Given the description of an element on the screen output the (x, y) to click on. 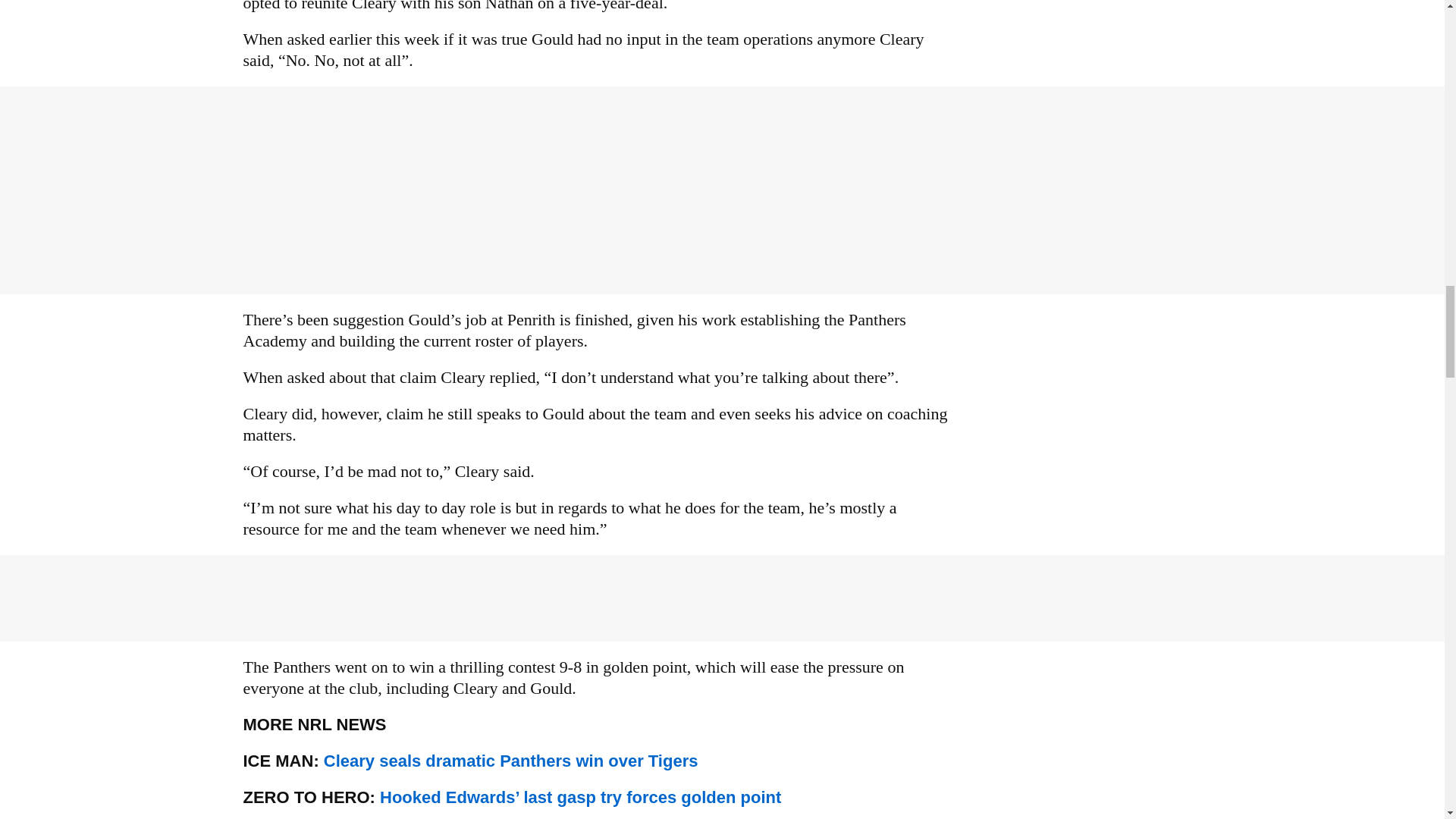
Cleary seals dramatic Panthers win over Tigers (510, 760)
